Given the description of an element on the screen output the (x, y) to click on. 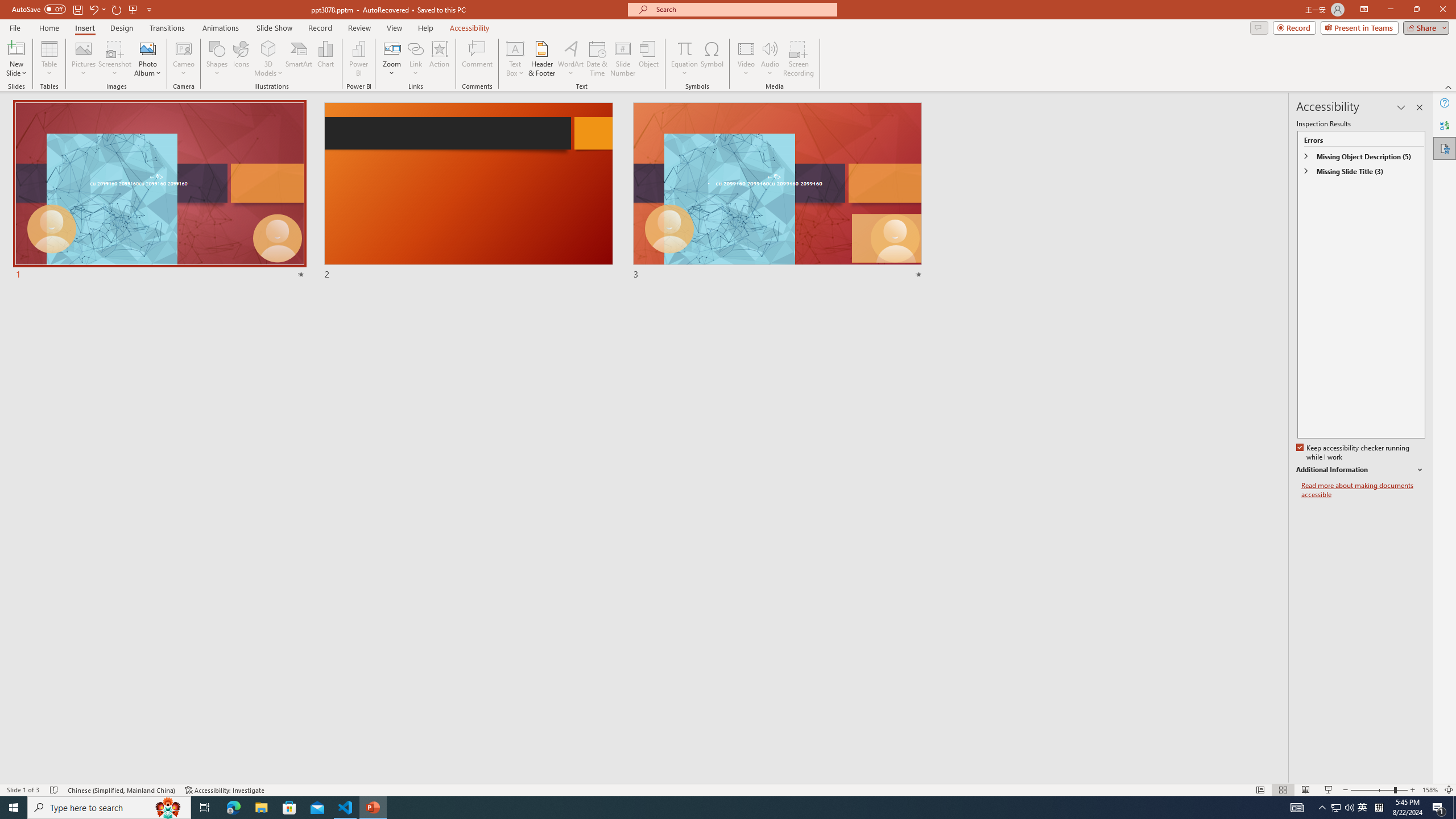
Slide Number (622, 58)
Screen Recording... (798, 58)
Video (745, 58)
Pictures (83, 58)
Object... (649, 58)
